Given the description of an element on the screen output the (x, y) to click on. 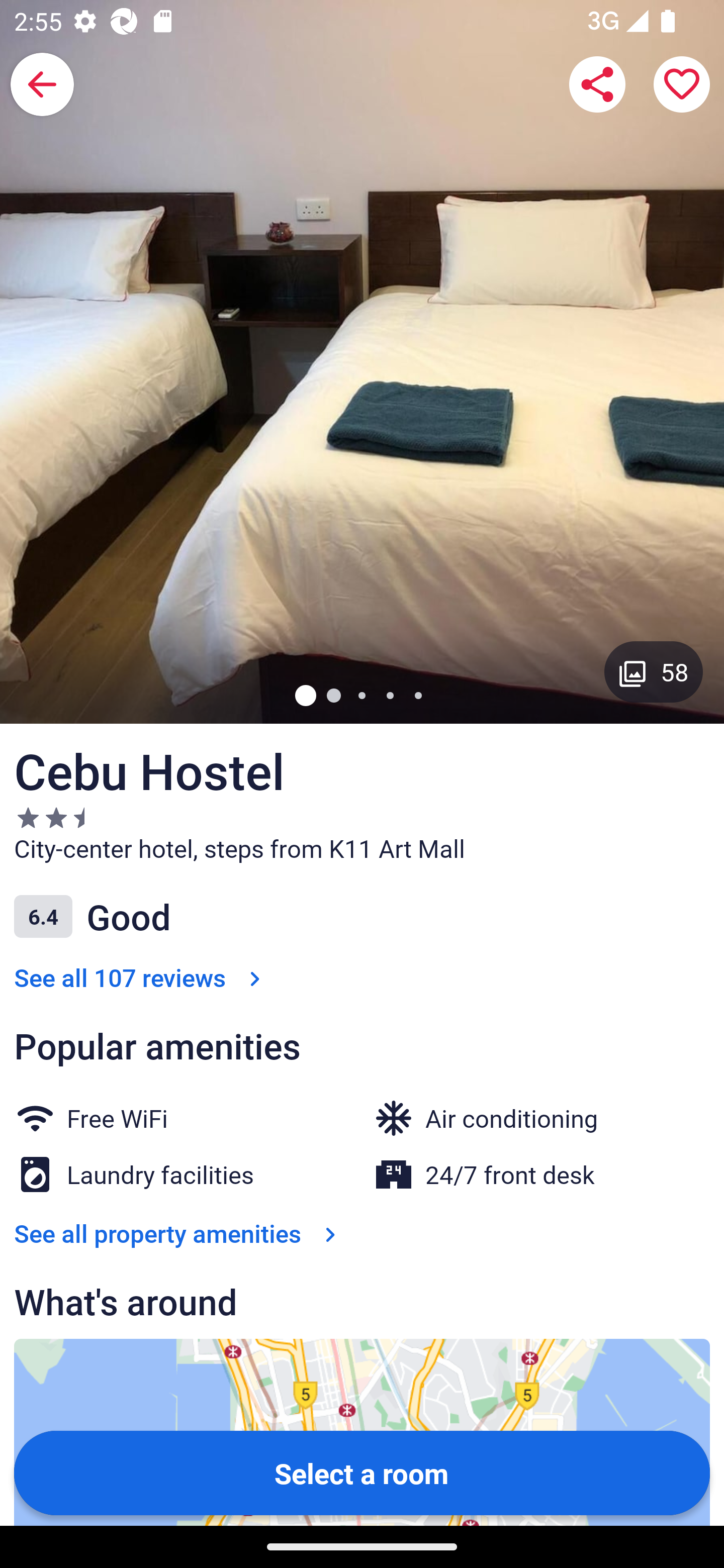
Back (42, 84)
Save property to a trip (681, 84)
Share Cebu Hostel (597, 84)
Gallery button with 58 images (653, 671)
See all 107 reviews See all 107 reviews Link (140, 976)
See all property amenities (178, 1232)
Select a room Button Select a room (361, 1472)
